Given the description of an element on the screen output the (x, y) to click on. 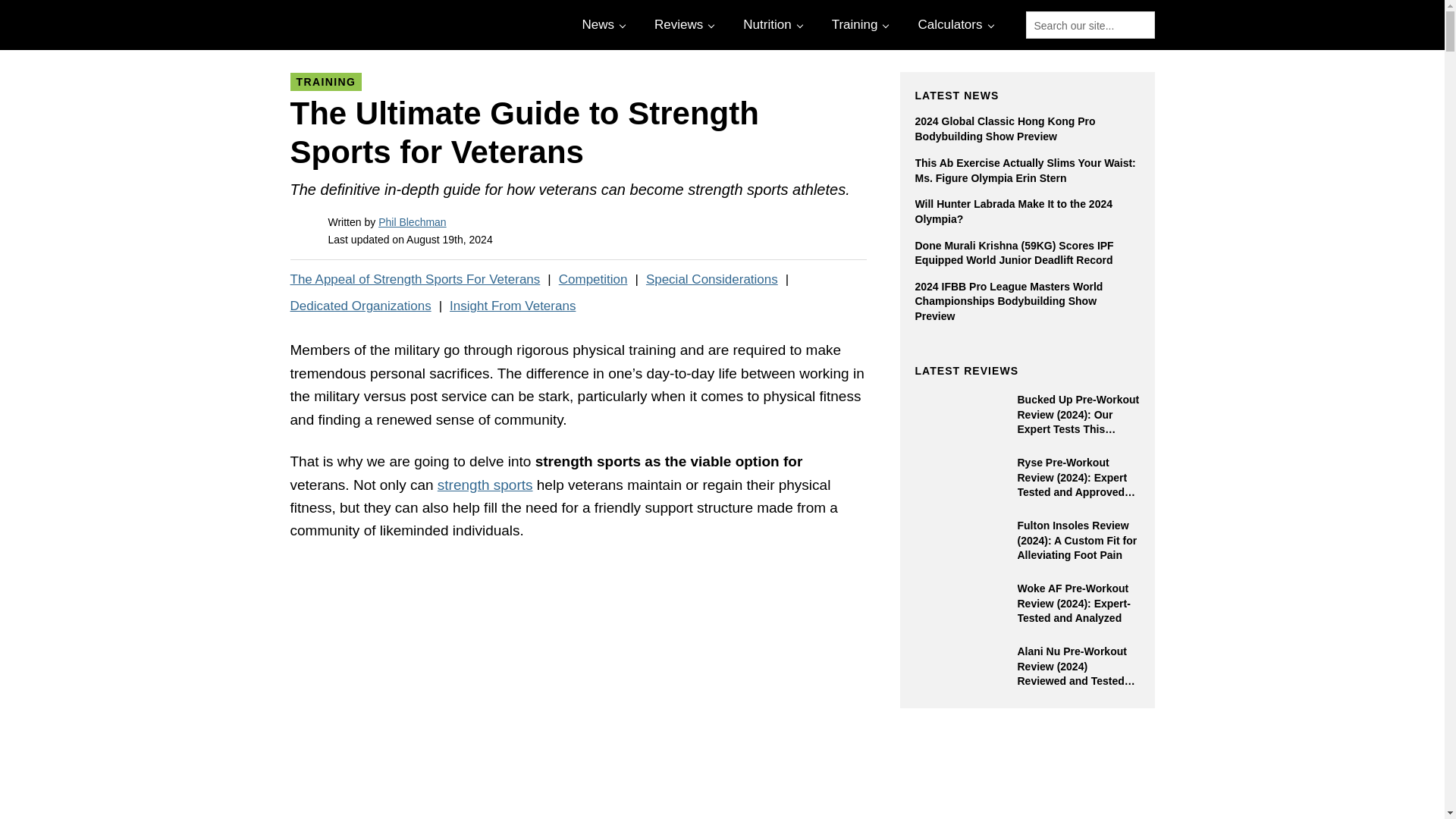
Reviews (682, 24)
News (602, 24)
